Given the description of an element on the screen output the (x, y) to click on. 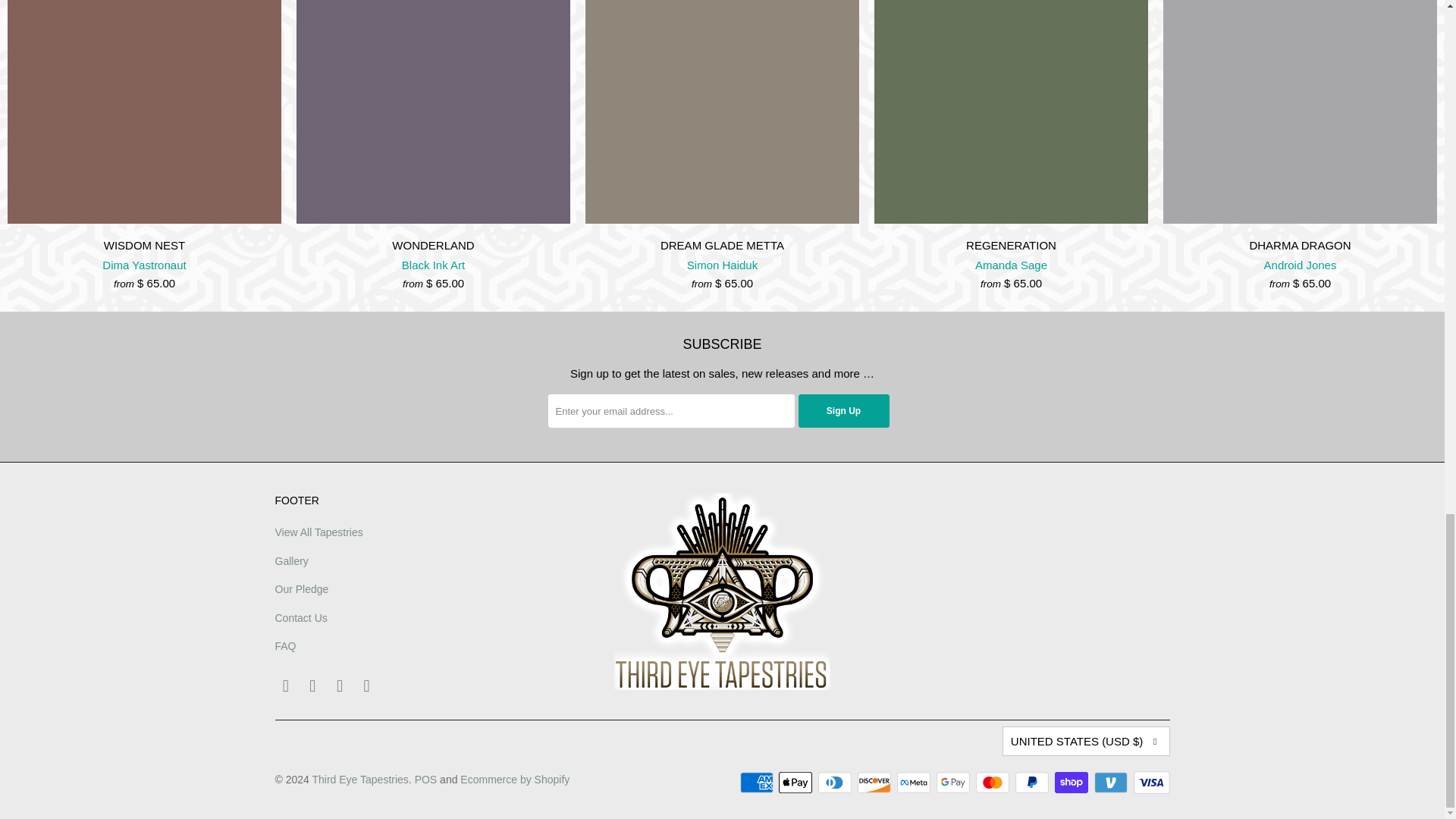
Third Eye Tapestries on Facebook (312, 686)
Google Pay (954, 782)
Visa (1150, 782)
Apple Pay (796, 782)
American Express (757, 782)
Diners Club (836, 782)
Discover (875, 782)
Mastercard (993, 782)
Email Third Eye Tapestries (286, 686)
Meta Pay (914, 782)
PayPal (1032, 782)
Third Eye Tapestries on Instagram (340, 686)
Venmo (1112, 782)
Sign Up (842, 410)
Shop Pay (1072, 782)
